Given the description of an element on the screen output the (x, y) to click on. 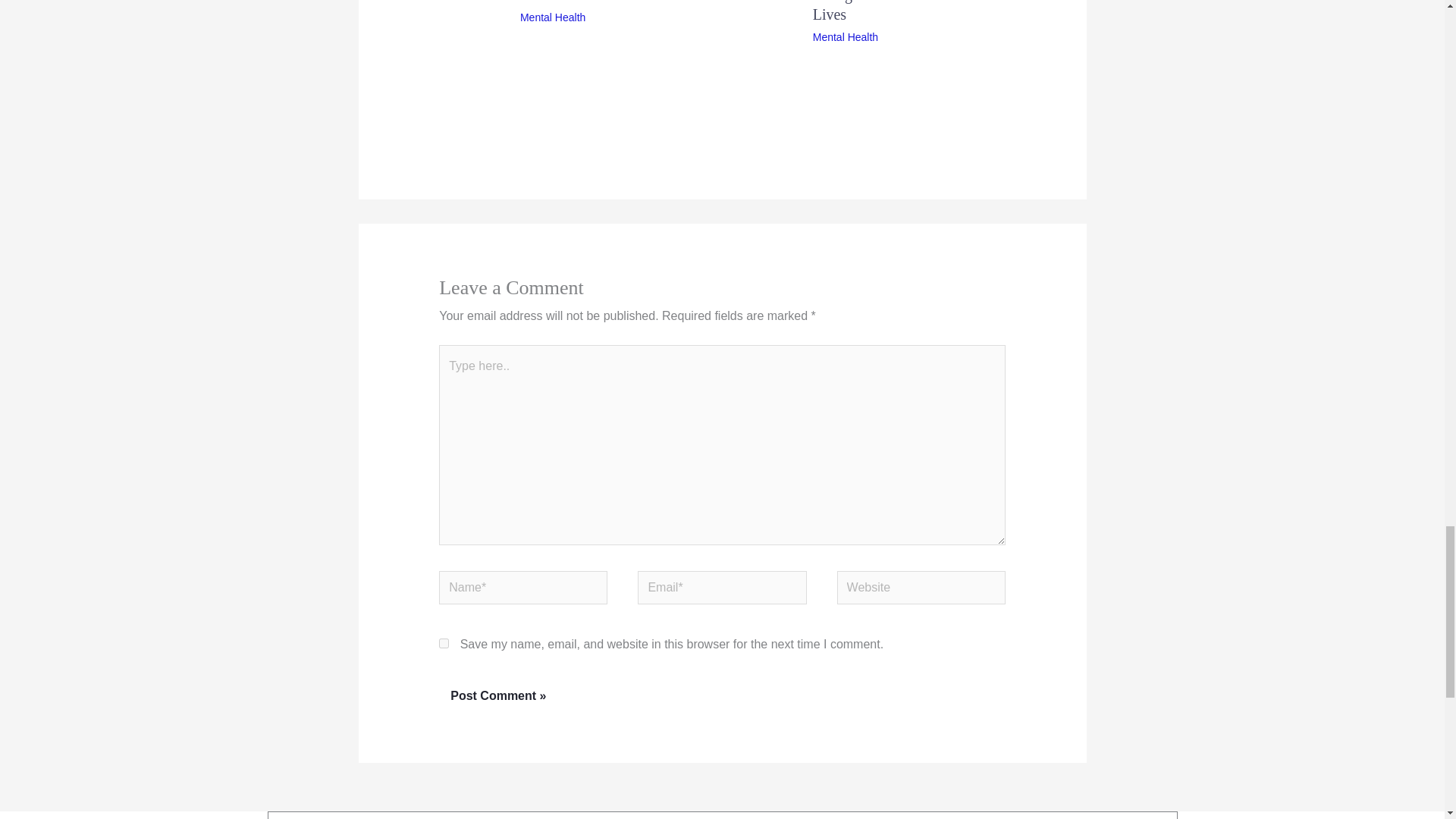
yes (443, 643)
How to Balance Work and Family as a Mom (572, 1)
Mental Health (552, 17)
How Smartphones Changed Our Lives (852, 11)
Mental Health (844, 37)
